Given the description of an element on the screen output the (x, y) to click on. 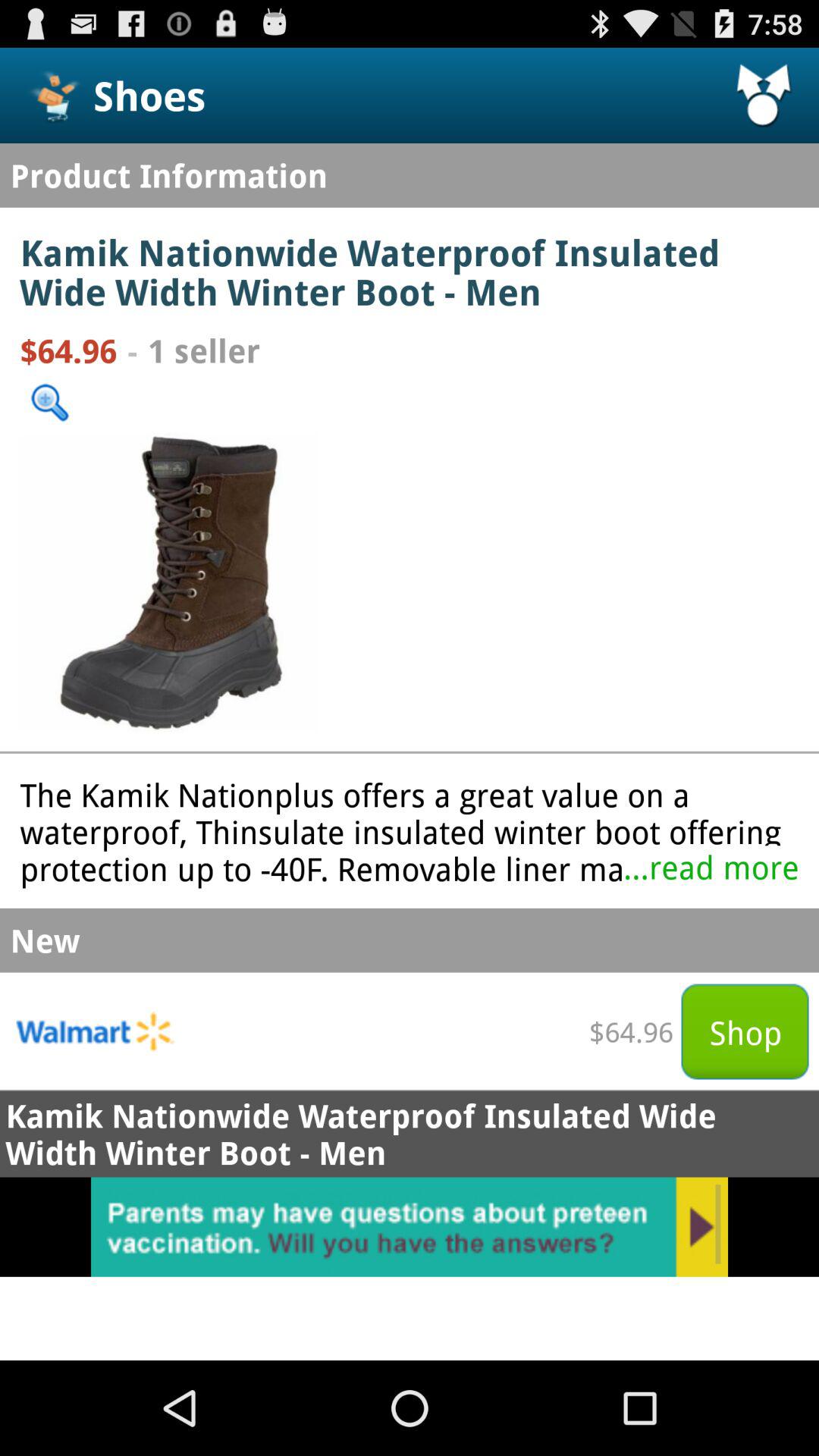
image magnifier (49, 402)
